Given the description of an element on the screen output the (x, y) to click on. 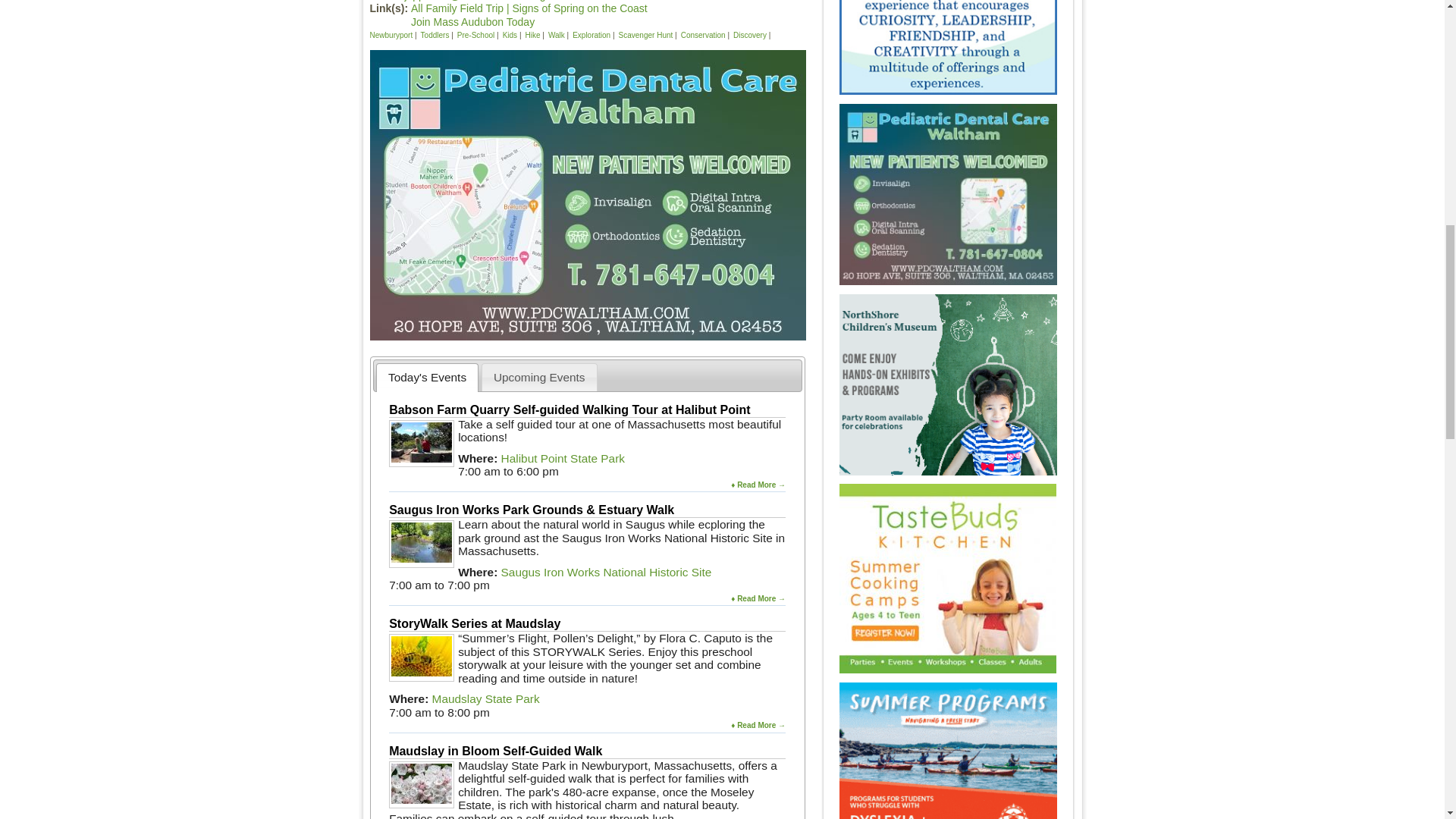
Join Mass Audubon Today (472, 21)
StoryWalk Series at Maudslay (474, 623)
Hike (532, 35)
Conservation (703, 35)
Saugus Iron Works National Historic Site (605, 571)
Kids (510, 35)
Babson Farm Quarry Self-guided Walking Tour at Halibut Point (568, 409)
Upcoming Events (538, 376)
Halibut Point State Park (562, 458)
Today's Events (428, 376)
